Given the description of an element on the screen output the (x, y) to click on. 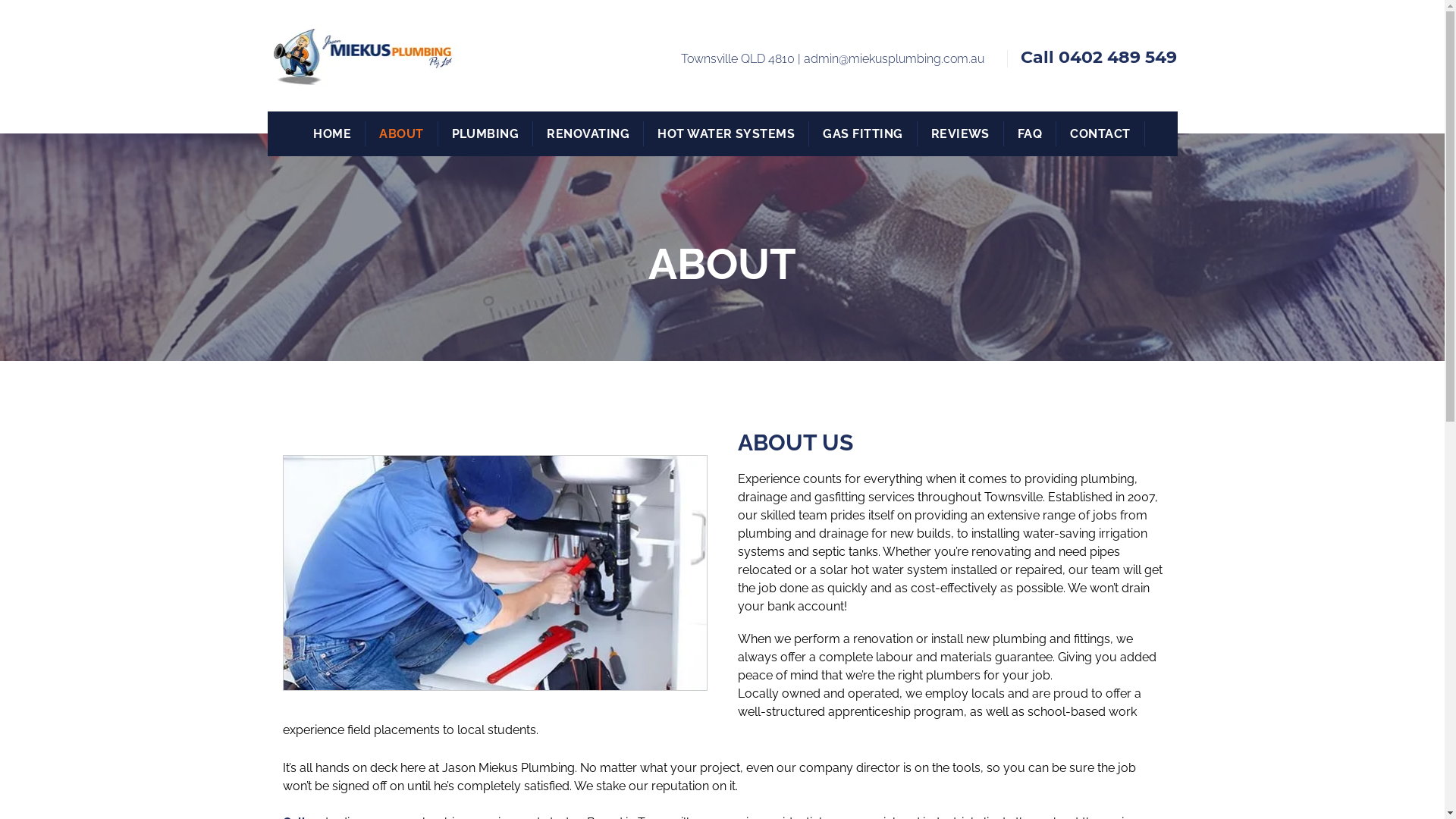
REVIEWS Element type: text (960, 133)
RENOVATING Element type: text (588, 133)
ABOUT Element type: text (401, 133)
PLUMBING Element type: text (485, 133)
HOME Element type: text (332, 133)
CONTACT Element type: text (1100, 133)
PLUMBER IN TOWNSVILLE Element type: hover (361, 55)
FAQ Element type: text (1030, 133)
Townsville QLD 4810 Element type: text (737, 58)
admin@miekusplumbing.com.au Element type: text (893, 58)
GAS FITTING Element type: text (862, 133)
0402 489 549 Element type: text (1117, 57)
HOT WATER SYSTEMS Element type: text (726, 133)
